Given the description of an element on the screen output the (x, y) to click on. 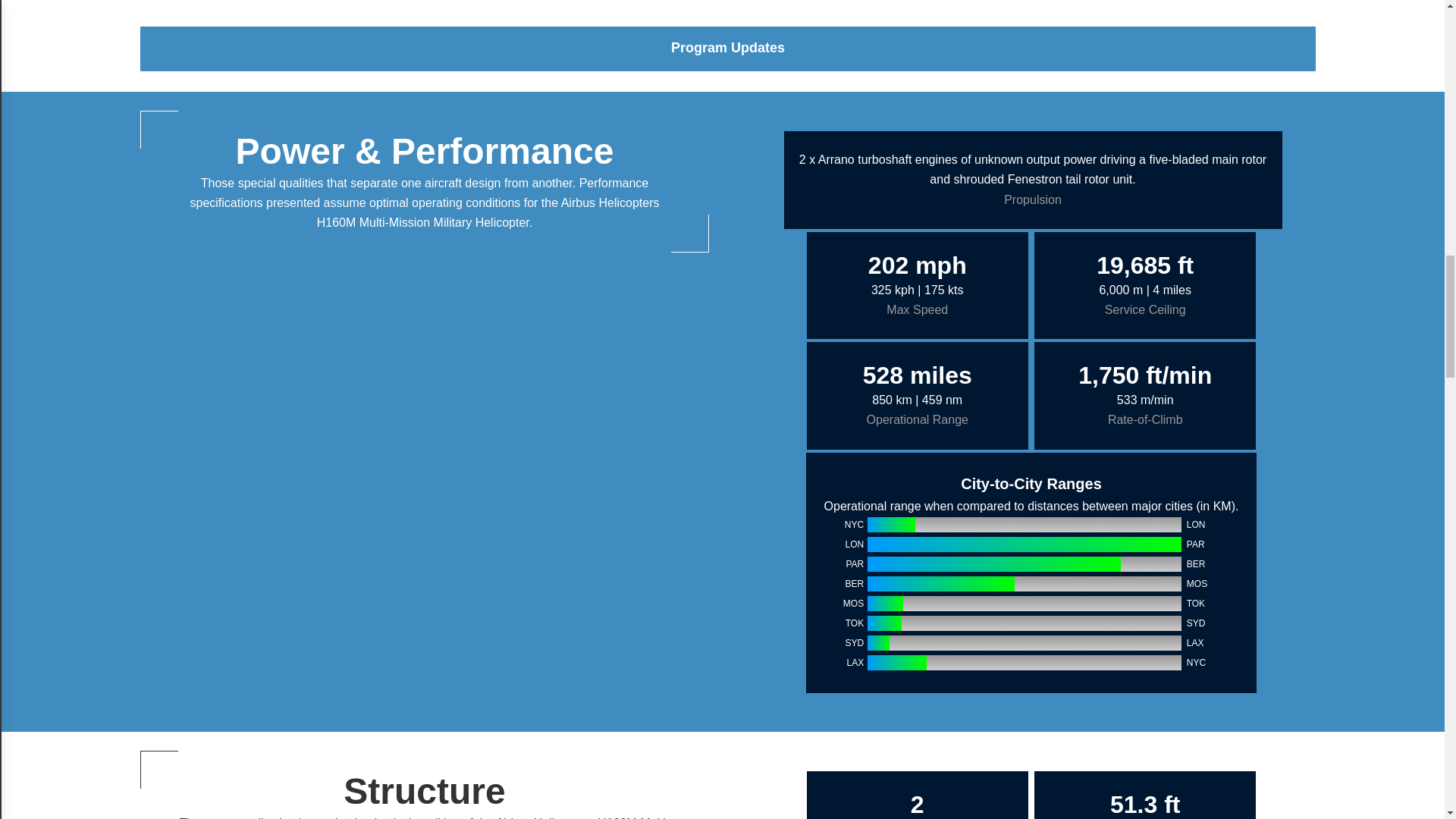
Program Updates (727, 46)
